Given the description of an element on the screen output the (x, y) to click on. 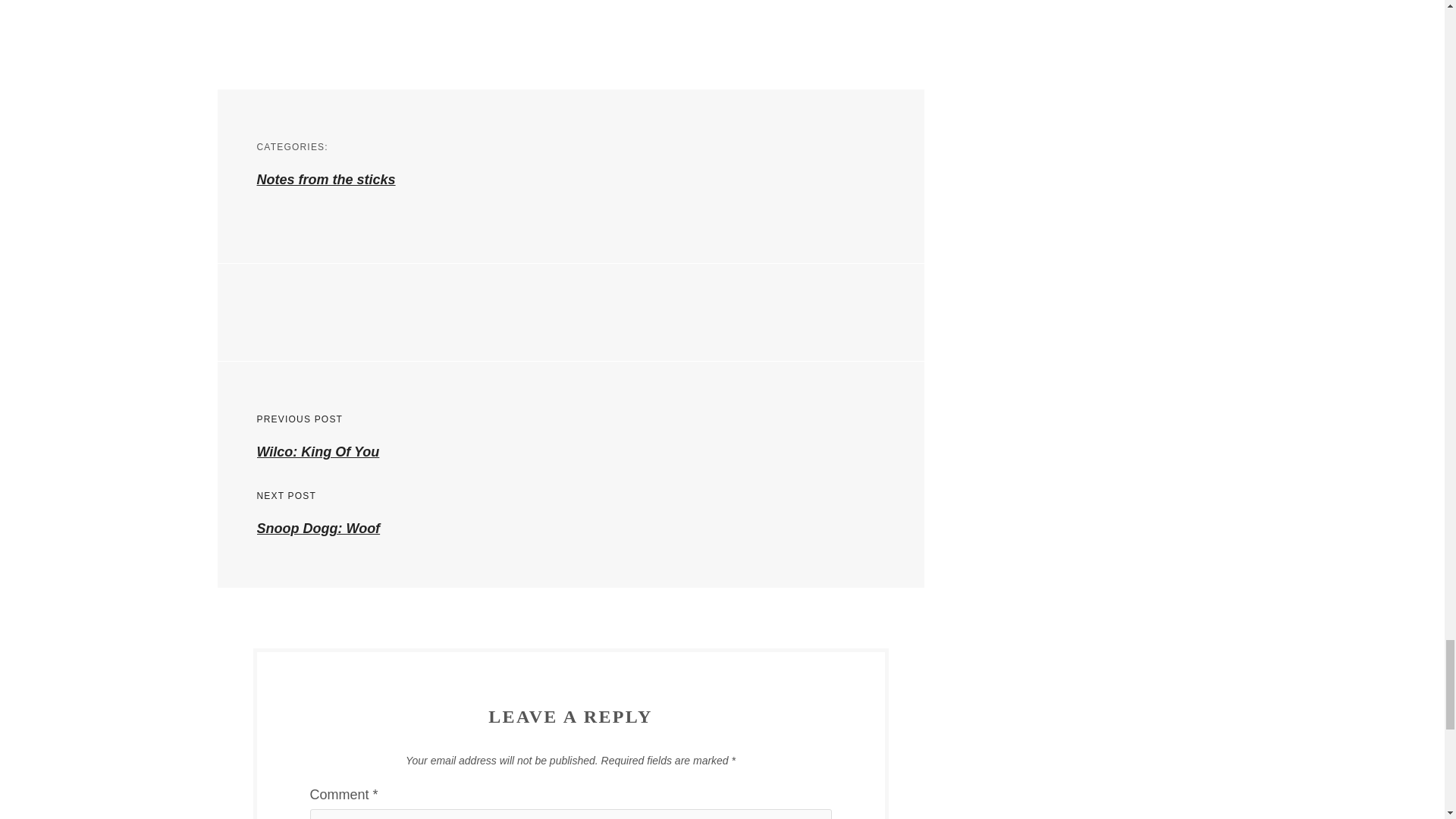
Notes from the sticks (325, 179)
